Given the description of an element on the screen output the (x, y) to click on. 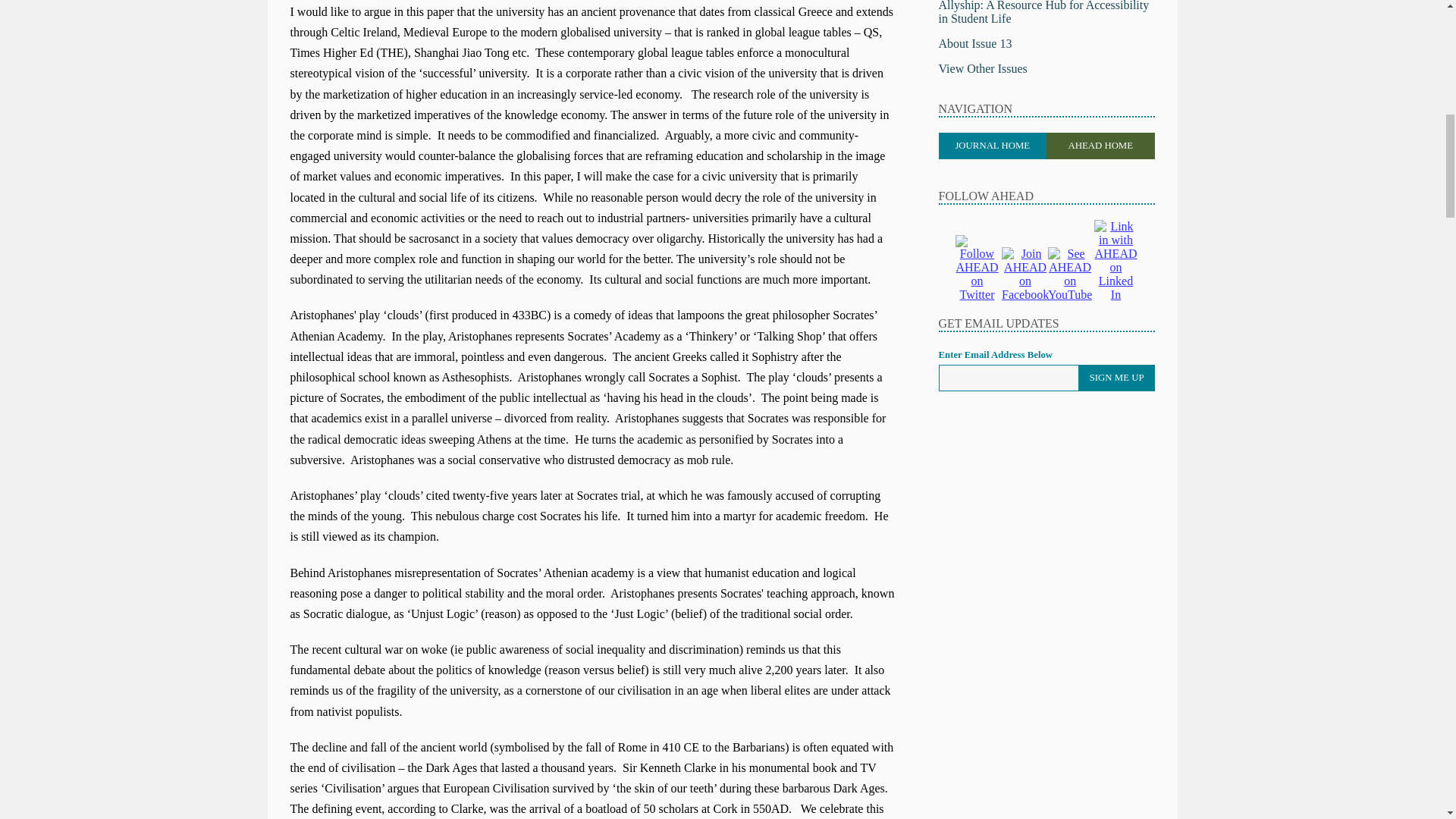
Allyship: A Resource Hub for Accessibility in Student Life (1044, 12)
JOURNAL HOME (992, 145)
Sign Me Up (1116, 377)
About Issue 13 (975, 42)
View Other Issues (983, 68)
